Given the description of an element on the screen output the (x, y) to click on. 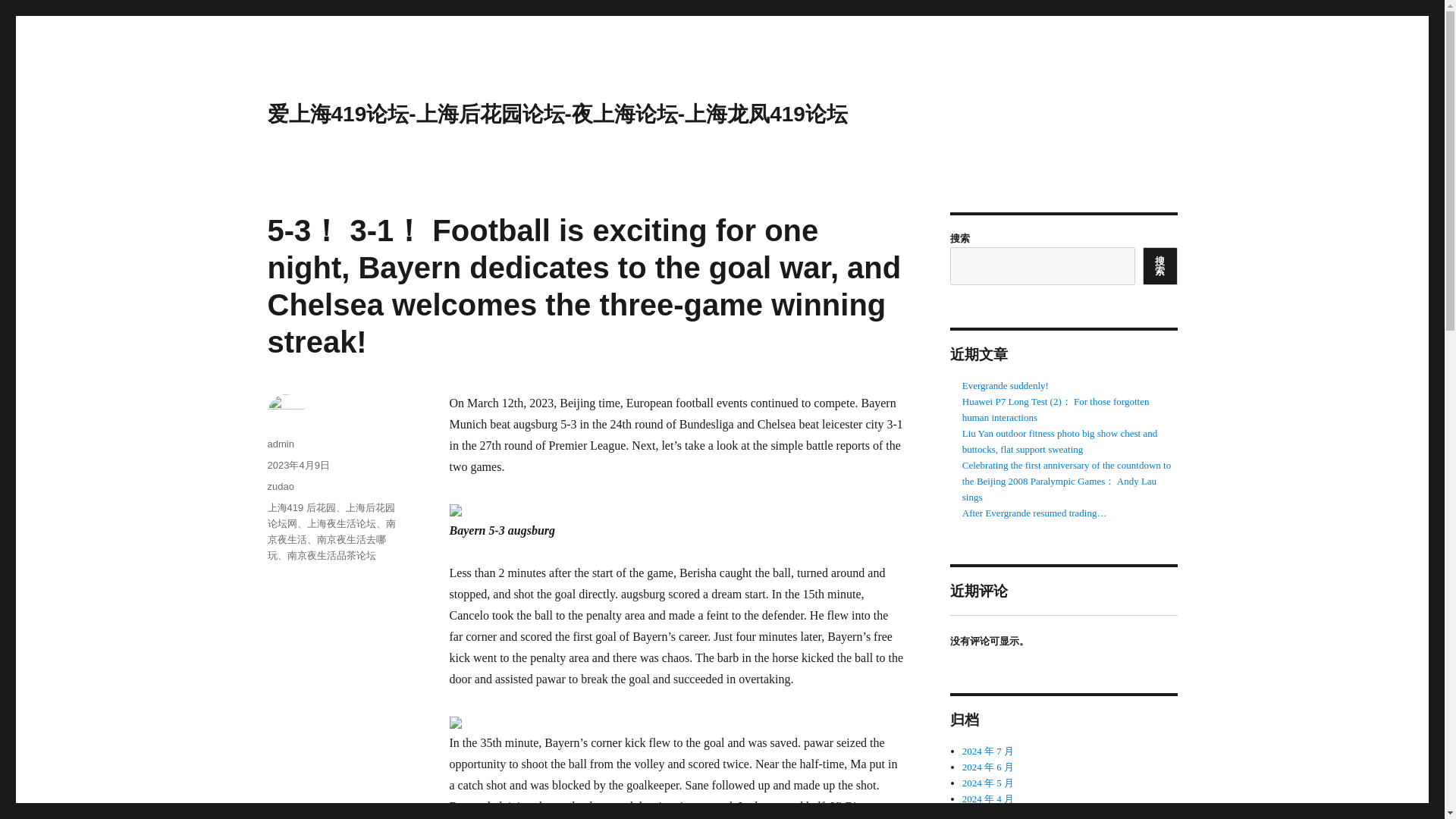
admin (280, 443)
Evergrande suddenly! (1005, 385)
zudao (280, 486)
